Given the description of an element on the screen output the (x, y) to click on. 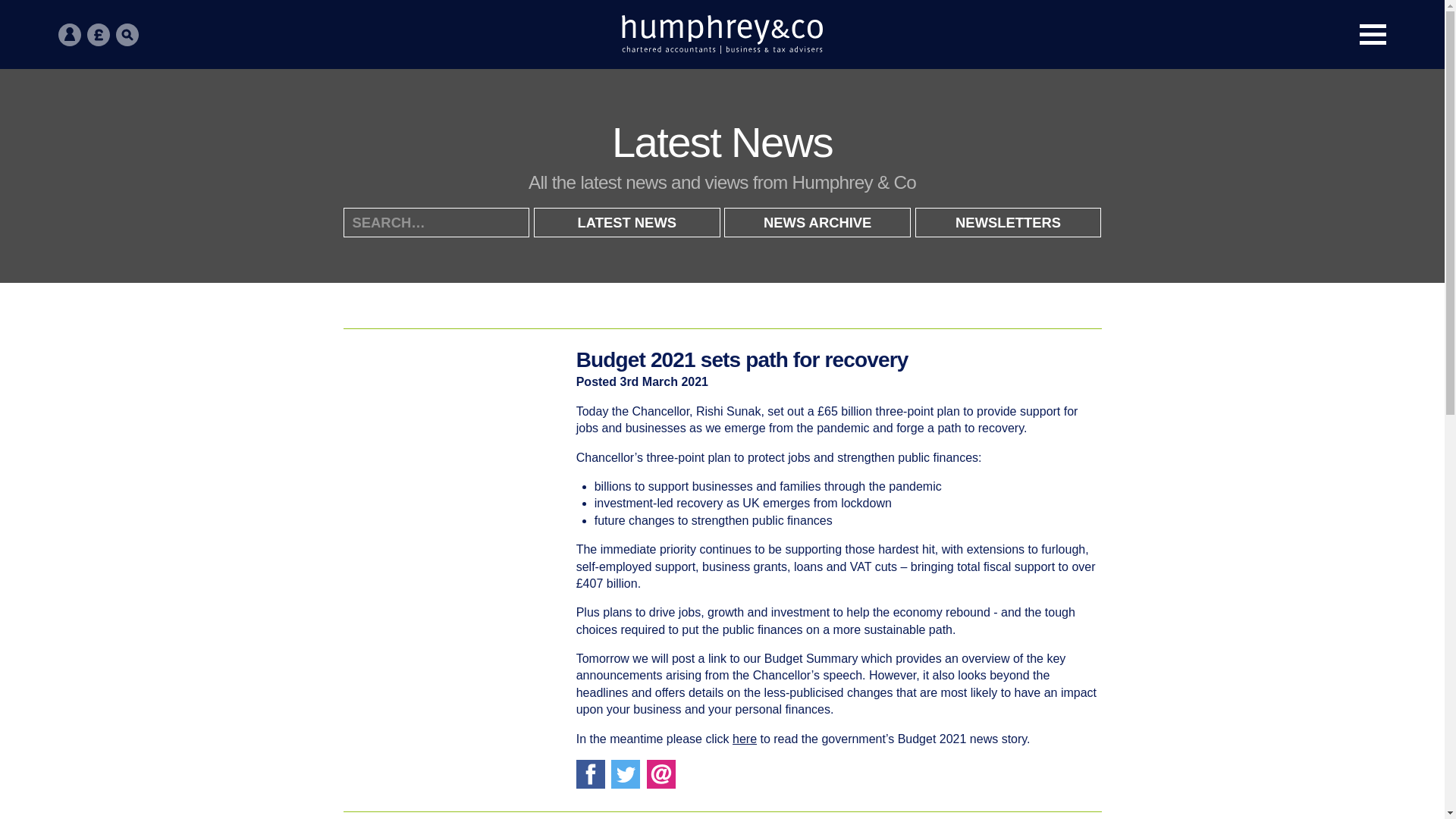
LATEST NEWS (627, 222)
here (744, 738)
Go (1362, 81)
NEWSLETTERS (1008, 222)
Email (660, 774)
Budget 2021 sets path for recovery (742, 359)
NEWSLETTERS (1008, 222)
Facebook (590, 774)
LATEST NEWS (627, 222)
Twitter (625, 774)
